Given the description of an element on the screen output the (x, y) to click on. 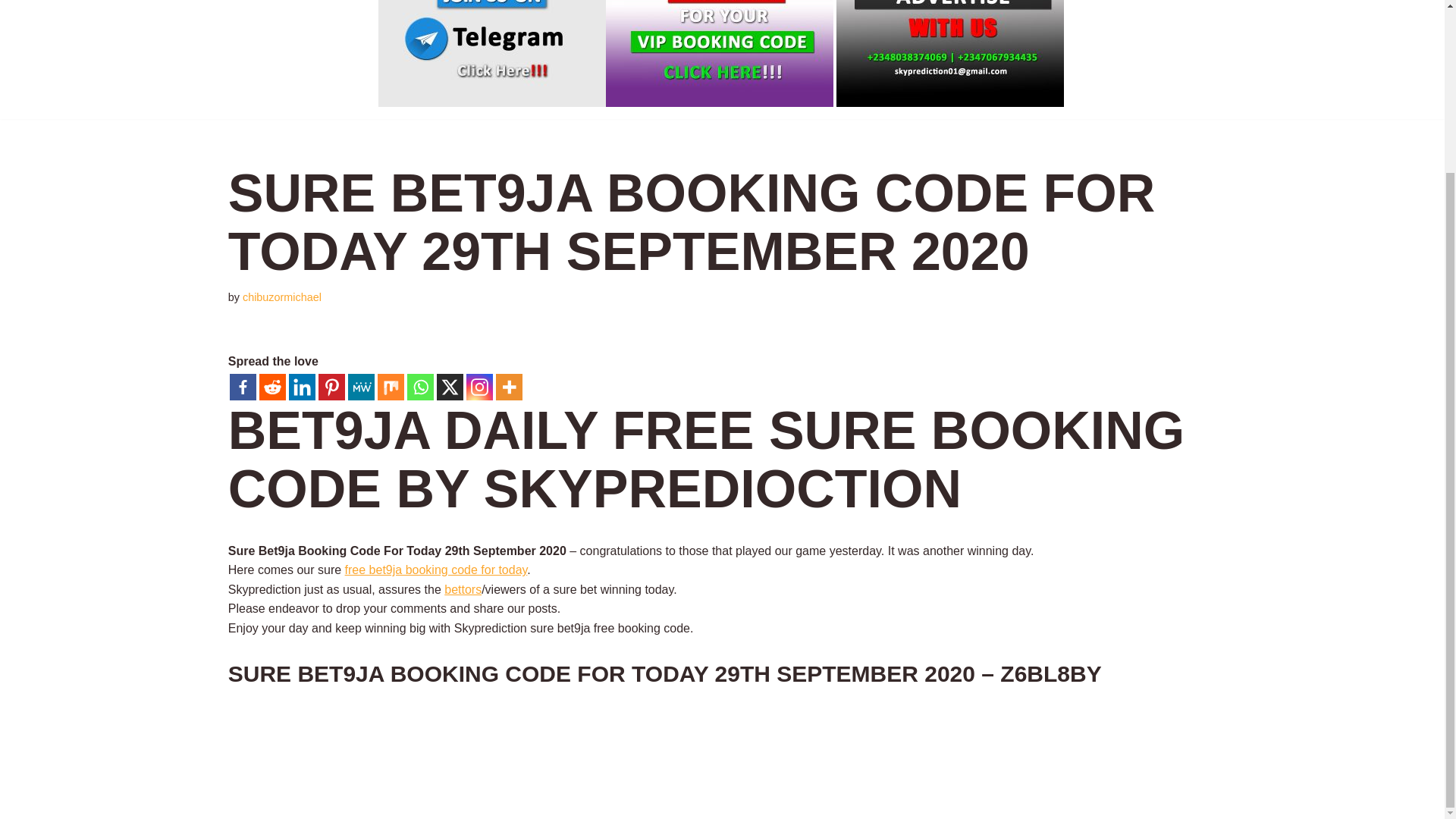
Posts by chibuzormichael (282, 297)
MeWe (360, 386)
Facebook (243, 386)
Linkedin (301, 386)
Mix (390, 386)
Reddit (272, 386)
X (449, 386)
More (509, 386)
chibuzormichael (282, 297)
Whatsapp (420, 386)
Pinterest (331, 386)
Instagram (479, 386)
